Given the description of an element on the screen output the (x, y) to click on. 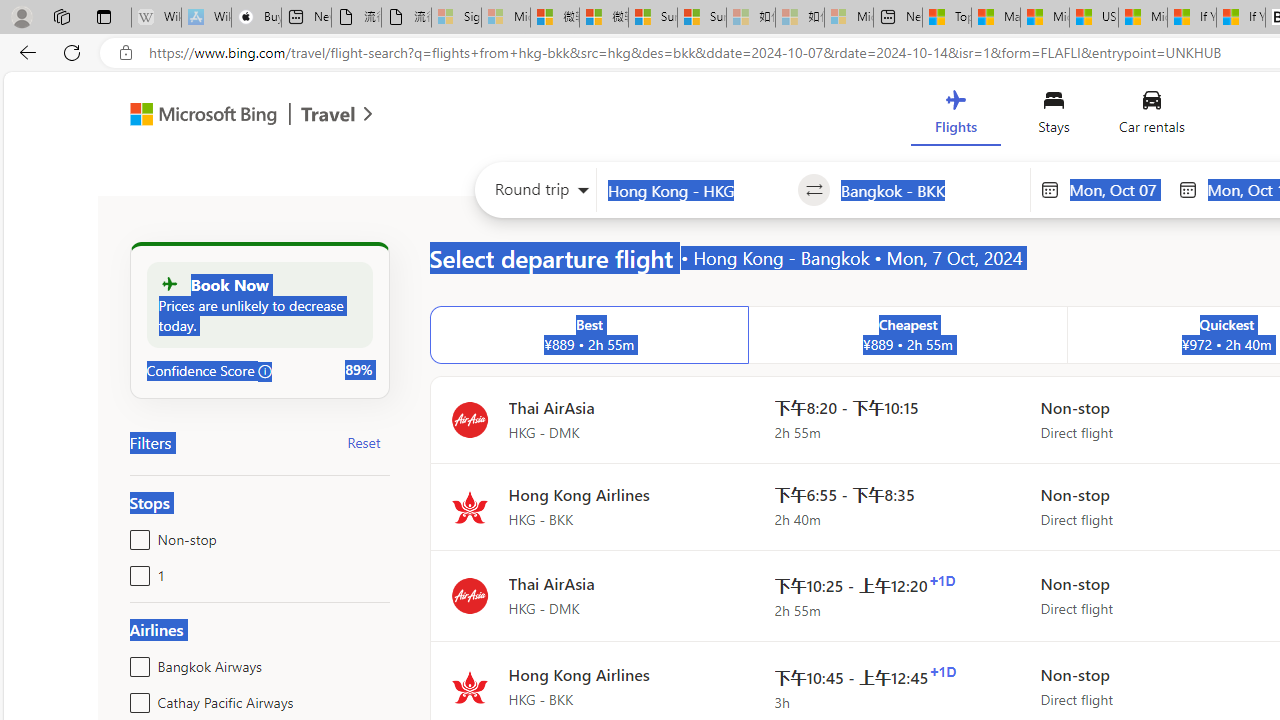
US Heat Deaths Soared To Record High Last Year (1093, 17)
Bangkok Airways (136, 662)
Travel (328, 116)
Going to? (930, 190)
Leaving from? (697, 190)
Reset (363, 442)
Select trip type (535, 193)
Class: msft-bing-logo msft-bing-logo-desktop (198, 114)
Microsoft Services Agreement - Sleeping (505, 17)
Microsoft Bing Travel (229, 116)
